Given the description of an element on the screen output the (x, y) to click on. 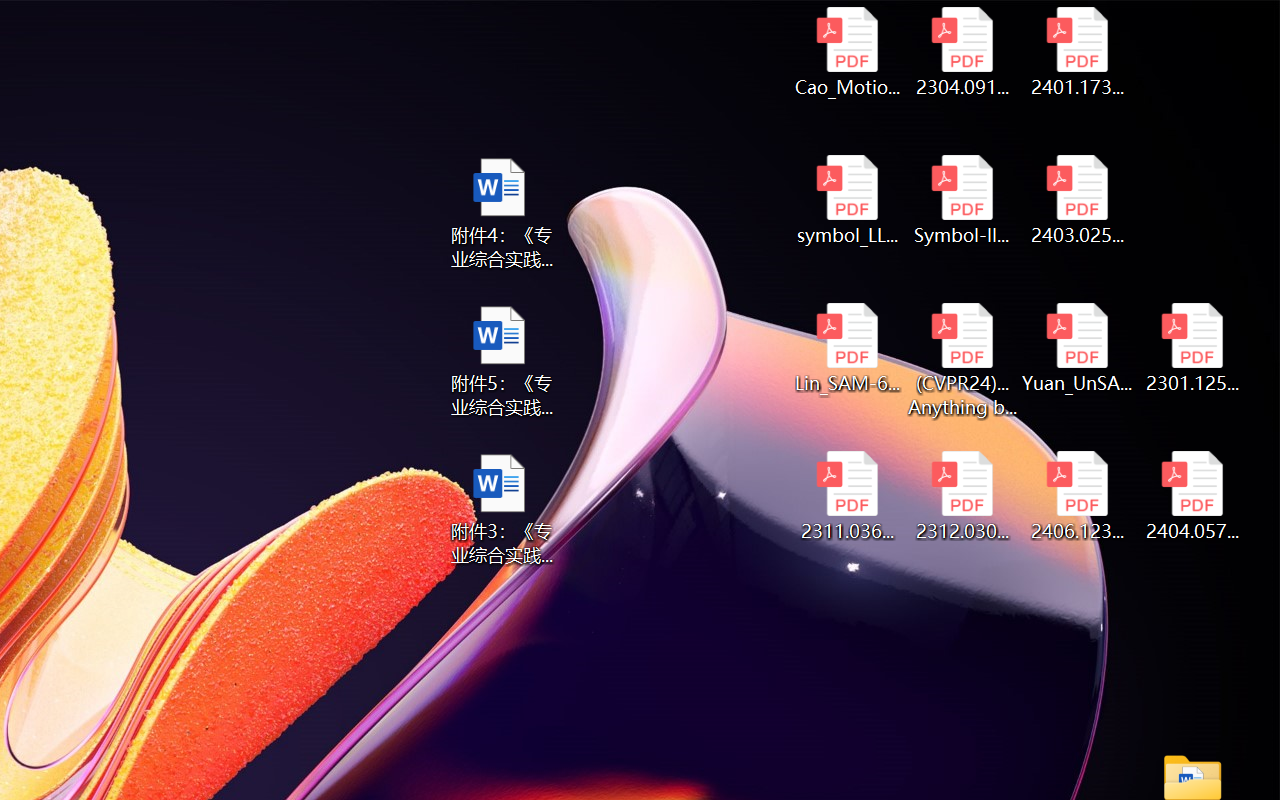
2406.12373v2.pdf (1077, 496)
2404.05719v1.pdf (1192, 496)
